Given the description of an element on the screen output the (x, y) to click on. 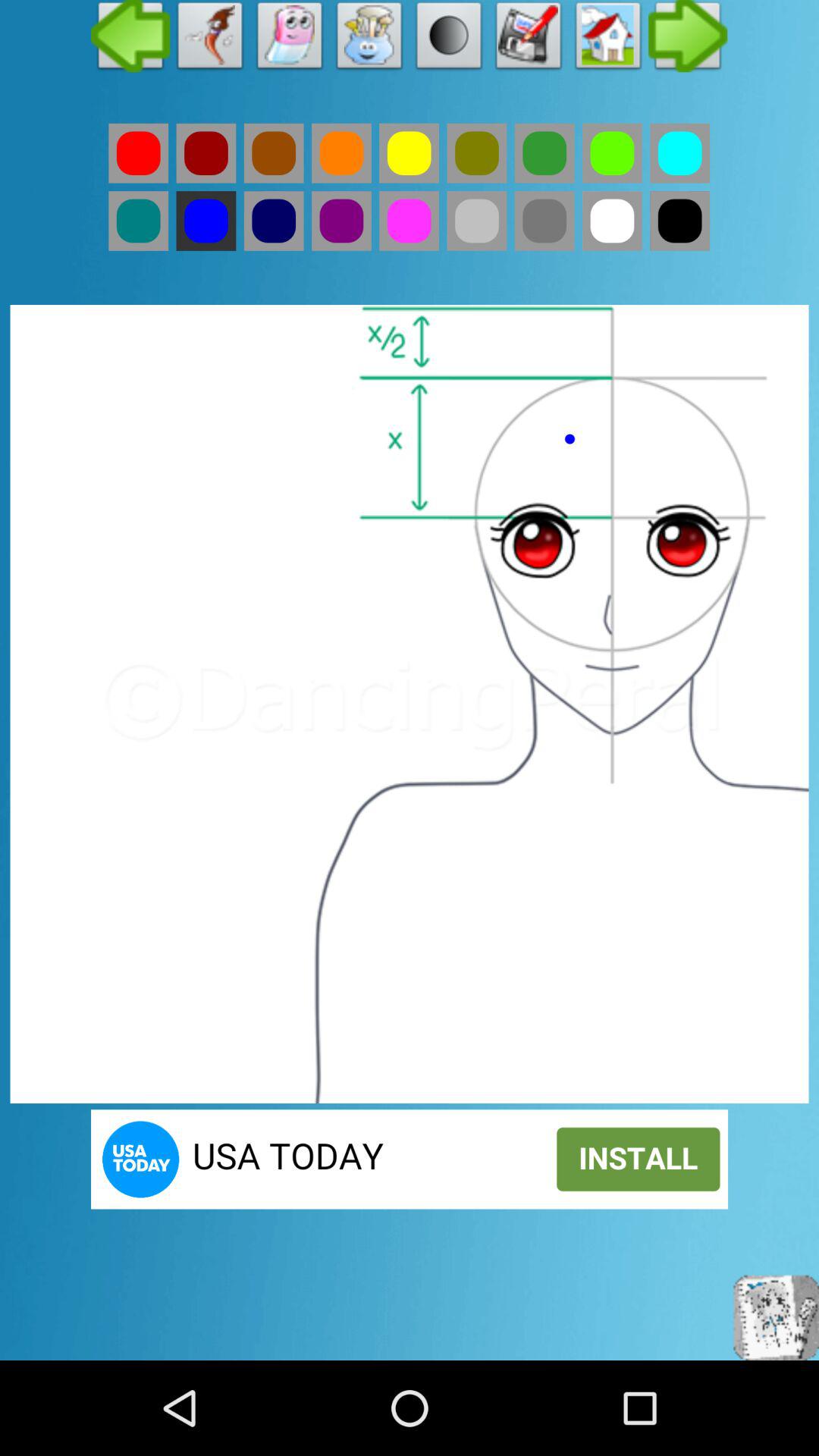
toggle tools (369, 39)
